Given the description of an element on the screen output the (x, y) to click on. 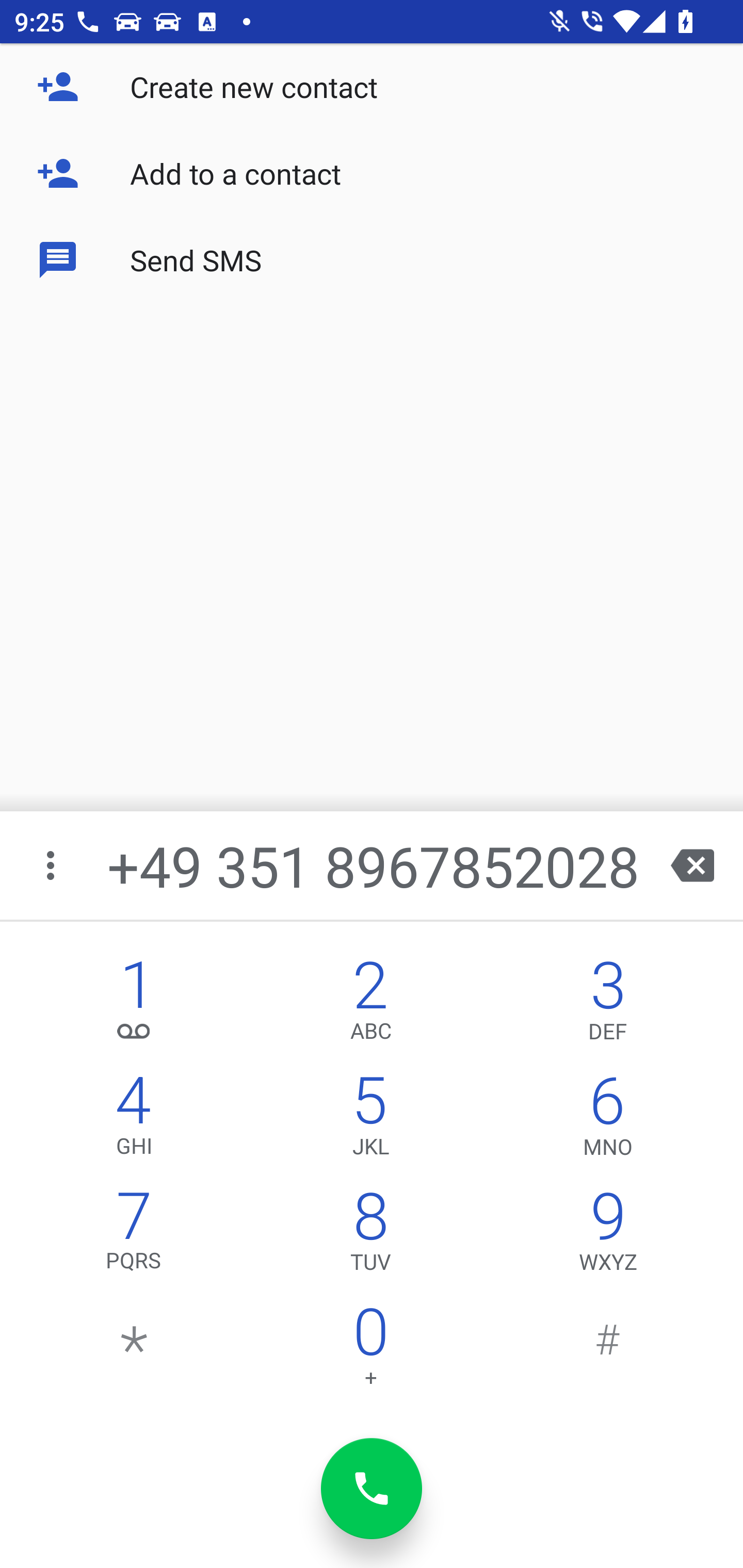
Create new contact (371, 86)
Add to a contact (371, 173)
Send SMS (371, 259)
+49 351 8967852028 (372, 865)
backspace (692, 865)
More options (52, 865)
1, 1 (133, 1005)
2,ABC 2 ABC (370, 1005)
3,DEF 3 DEF (607, 1005)
4,GHI 4 GHI (133, 1120)
5,JKL 5 JKL (370, 1120)
6,MNO 6 MNO (607, 1120)
7,PQRS 7 PQRS (133, 1235)
8,TUV 8 TUV (370, 1235)
9,WXYZ 9 WXYZ (607, 1235)
* (133, 1351)
0 0 + (370, 1351)
# (607, 1351)
dial (371, 1488)
